Given the description of an element on the screen output the (x, y) to click on. 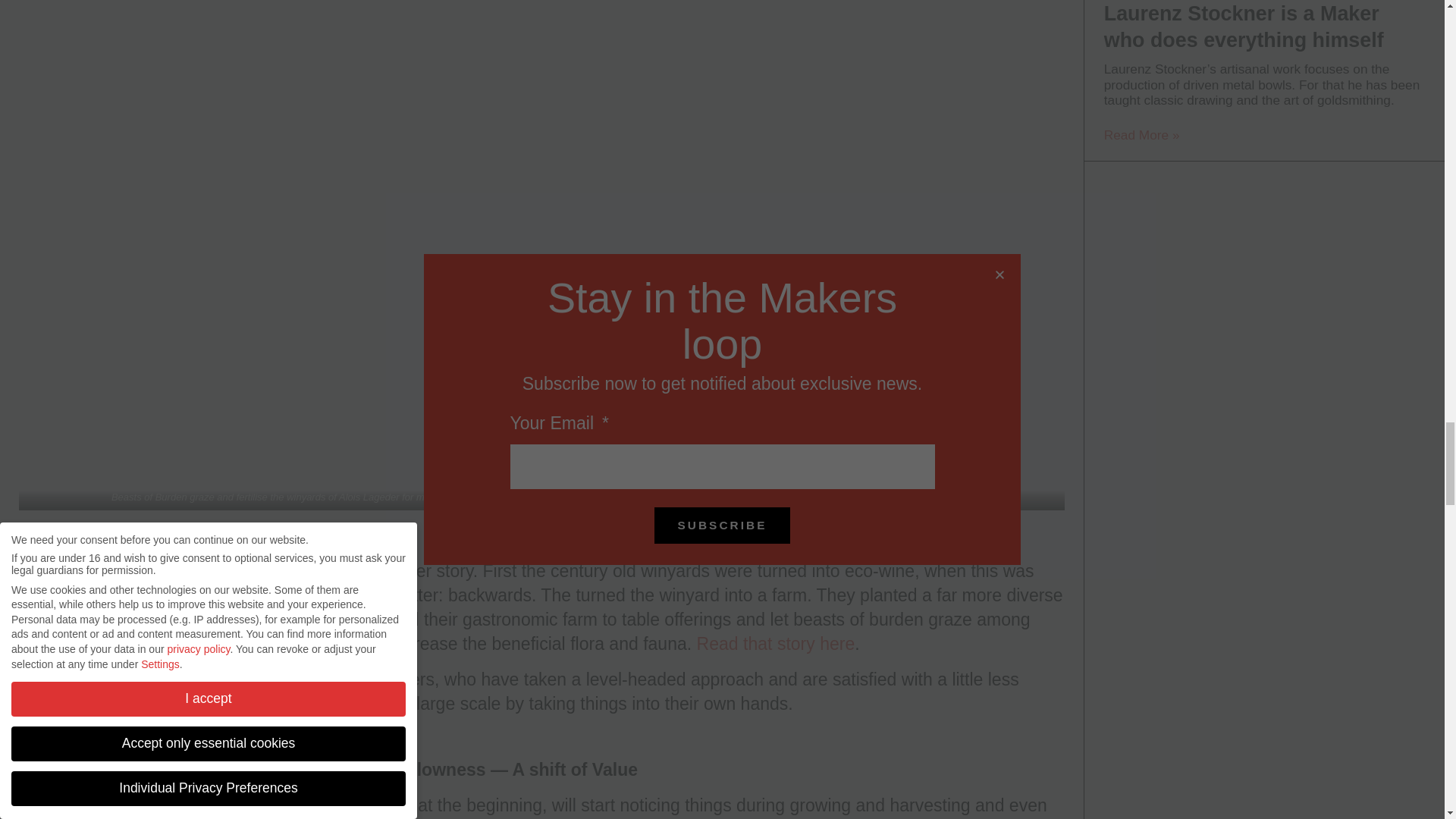
Alois Lageder (370, 496)
Read that story here (776, 643)
eco-pioneer Alois Lageder (248, 570)
our books (77, 679)
